Given the description of an element on the screen output the (x, y) to click on. 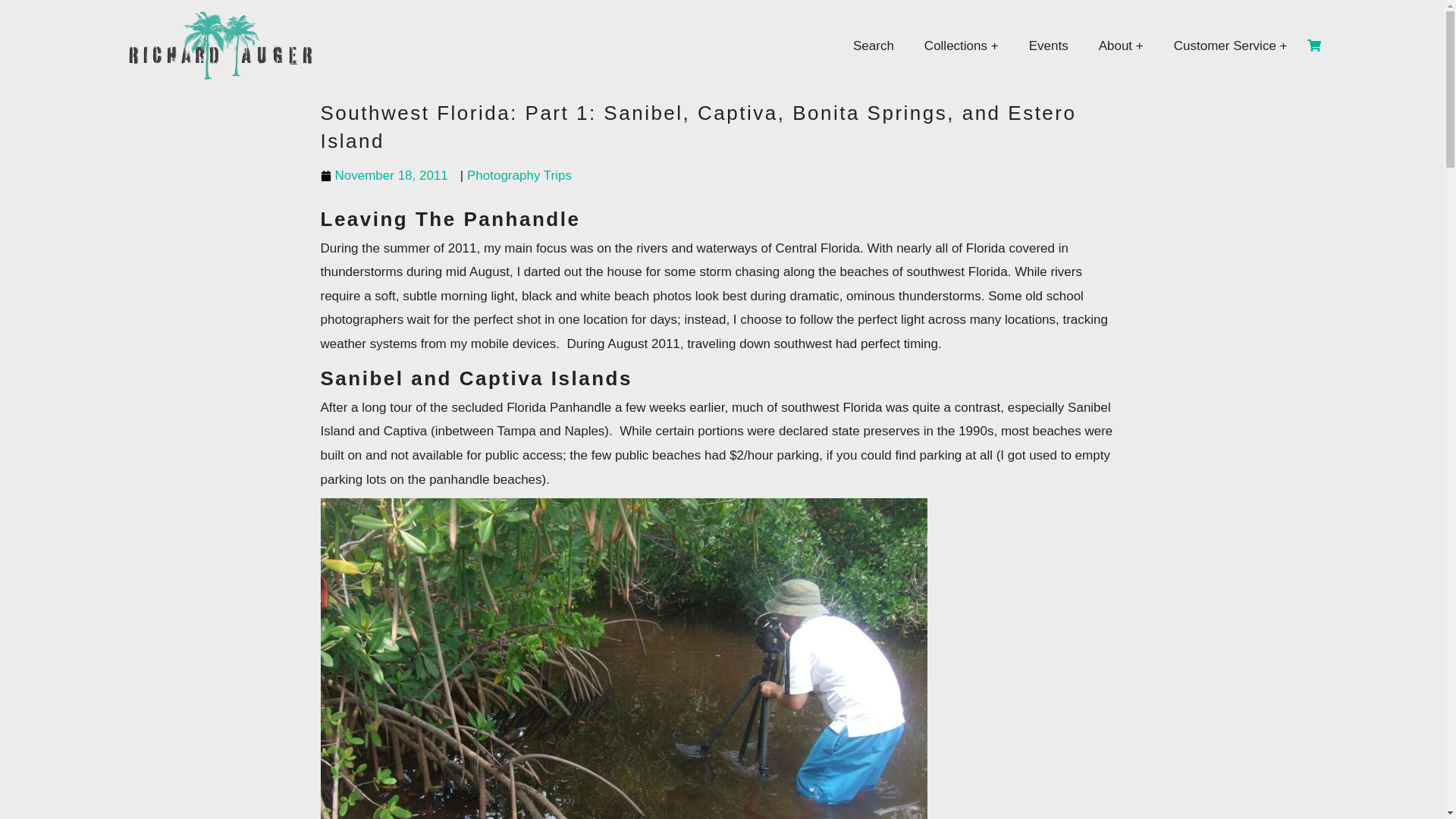
Events (1048, 45)
Search (873, 45)
